Given the description of an element on the screen output the (x, y) to click on. 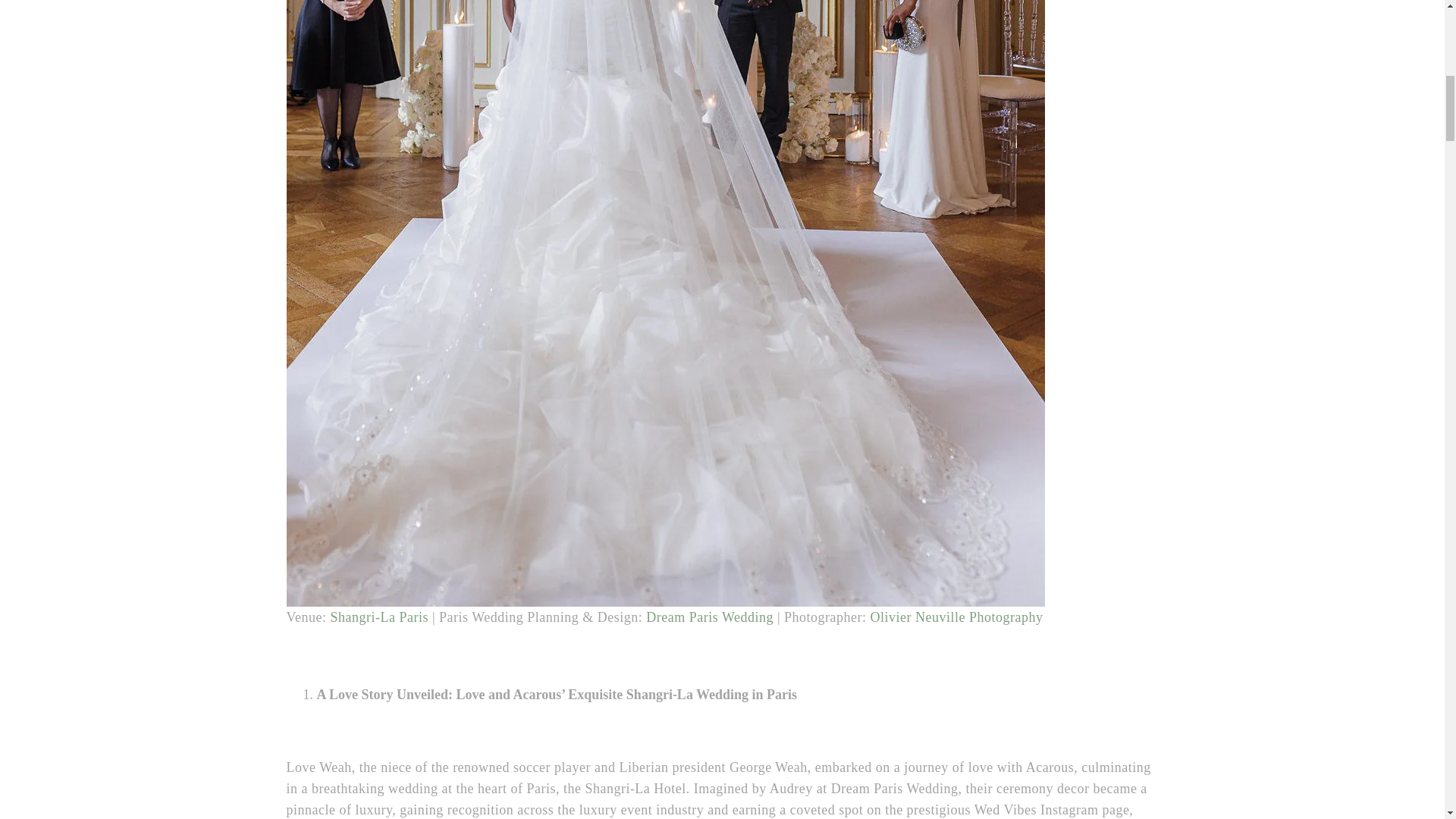
Dream Paris Wedding (709, 616)
Olivier Neuville Photography (956, 616)
Shangri-La Paris (379, 616)
